Given the description of an element on the screen output the (x, y) to click on. 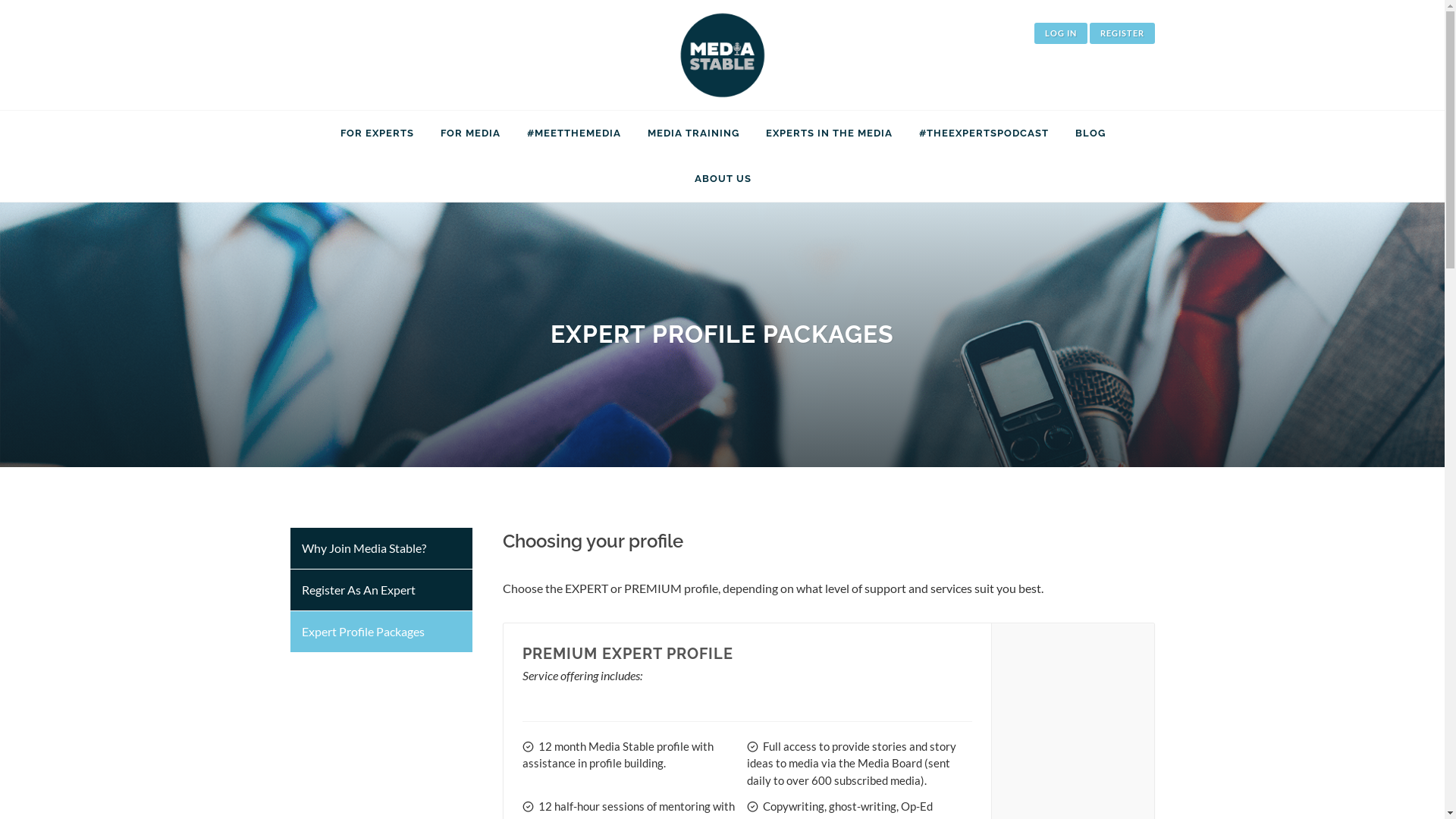
FOR MEDIA Element type: text (470, 133)
Expert Profile Packages Element type: text (380, 631)
REGISTER Element type: text (1121, 32)
ABOUT US Element type: text (722, 178)
BLOG Element type: text (1090, 133)
#THEEXPERTSPODCAST Element type: text (983, 133)
#MEETTHEMEDIA Element type: text (573, 133)
Why Join Media Stable? Element type: text (380, 548)
Register As An Expert Element type: text (380, 590)
EXPERTS IN THE MEDIA Element type: text (828, 133)
LOG IN Element type: text (1060, 32)
MEDIA TRAINING Element type: text (693, 133)
FOR EXPERTS Element type: text (377, 133)
